Given the description of an element on the screen output the (x, y) to click on. 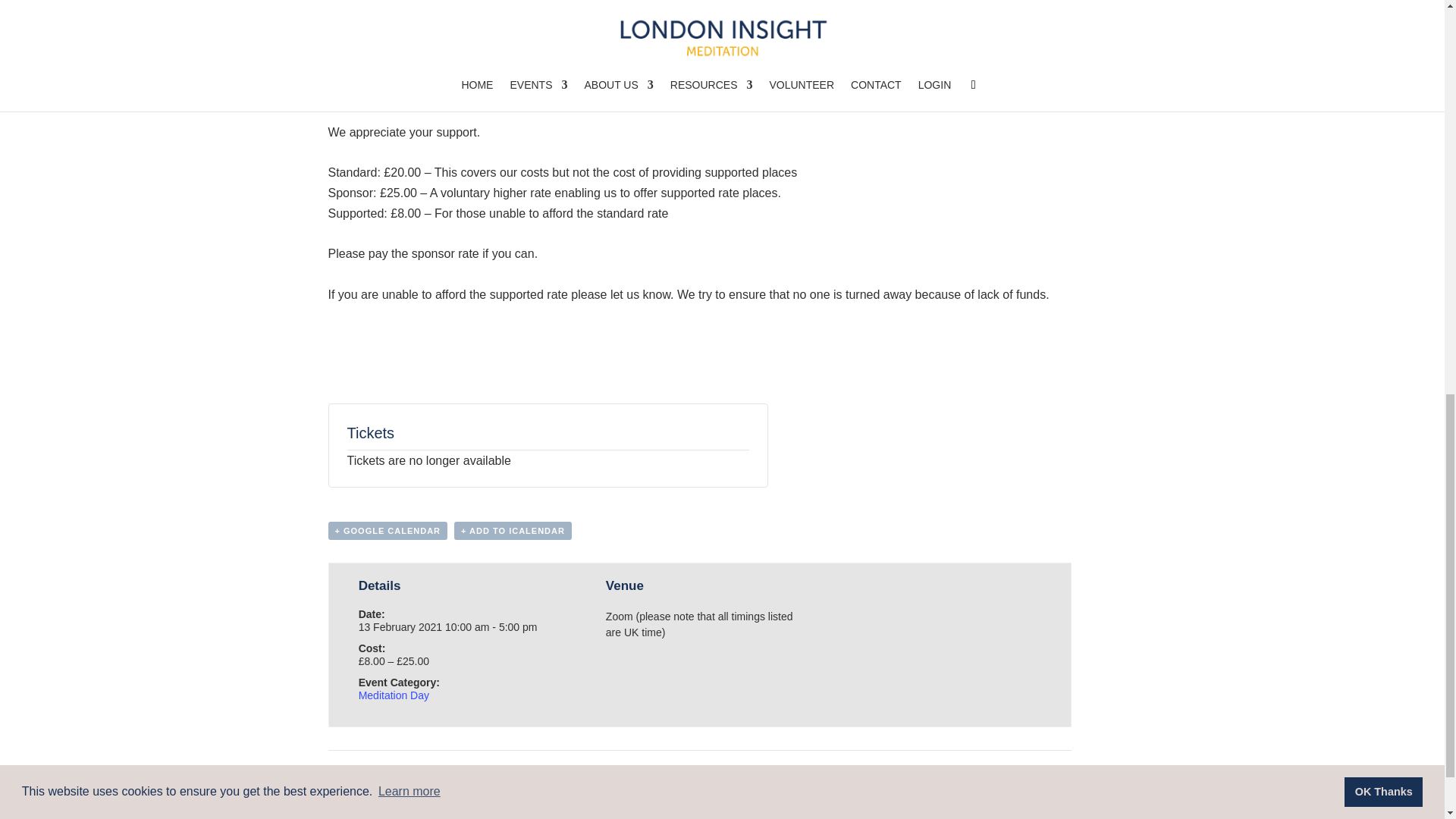
Add to Google Calendar (386, 530)
Download .ics file (513, 530)
